Given the description of an element on the screen output the (x, y) to click on. 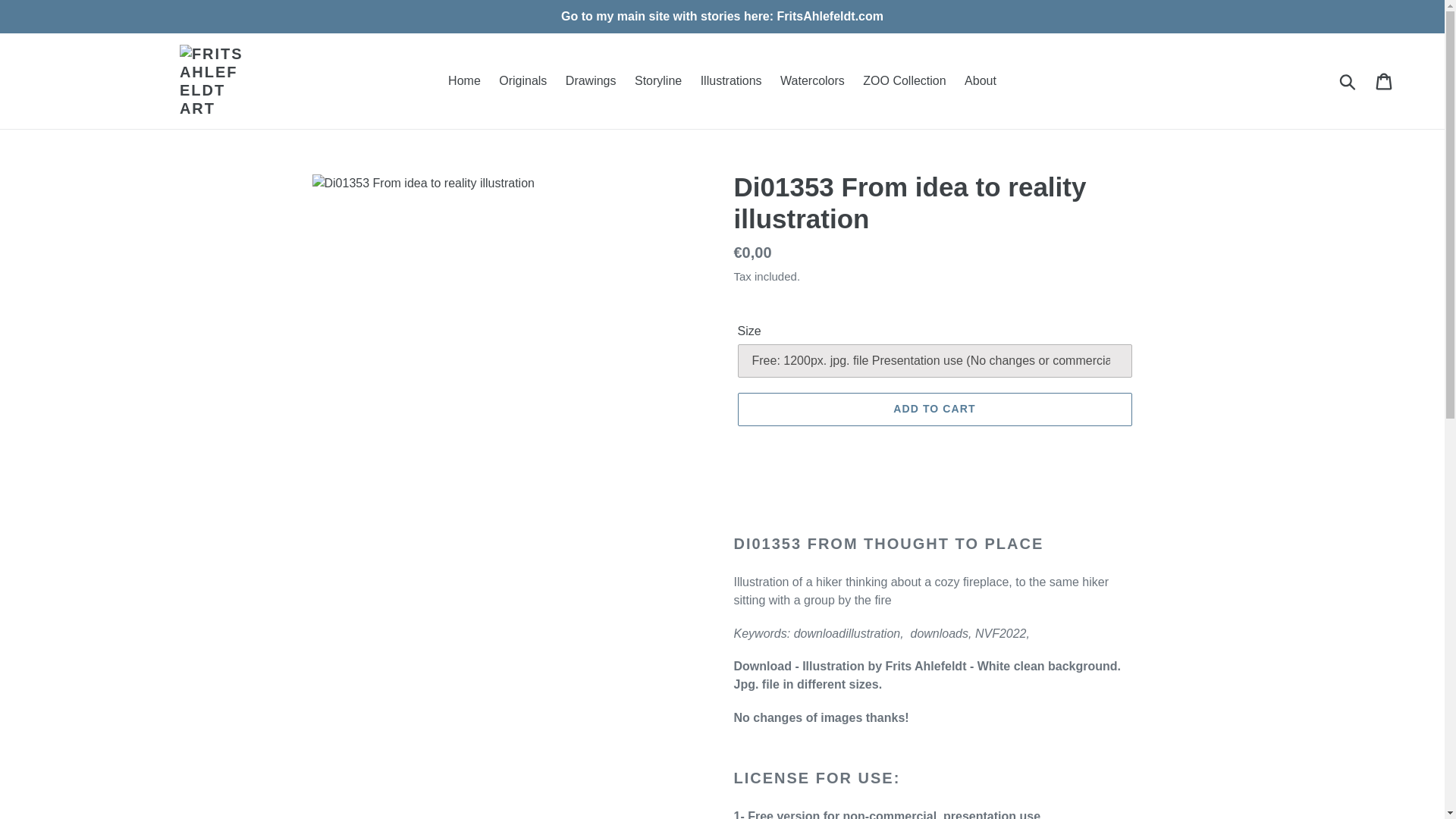
Cart (1385, 80)
ZOO Collection (904, 80)
Submit (1348, 80)
Storyline (657, 80)
About (980, 80)
Illustrations (731, 80)
Drawings (590, 80)
Originals (523, 80)
ADD TO CART (933, 409)
Watercolors (812, 80)
Home (464, 80)
